Given the description of an element on the screen output the (x, y) to click on. 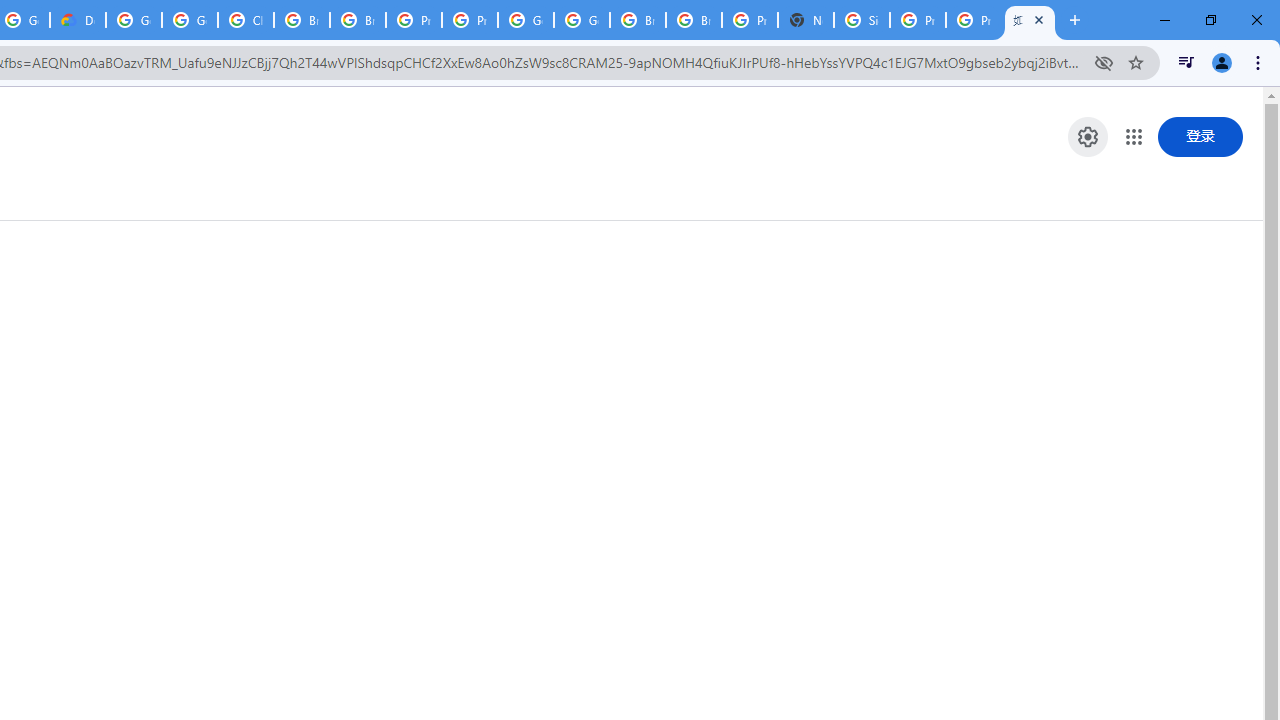
Google Cloud Platform (582, 20)
Google Cloud Platform (134, 20)
